Given the description of an element on the screen output the (x, y) to click on. 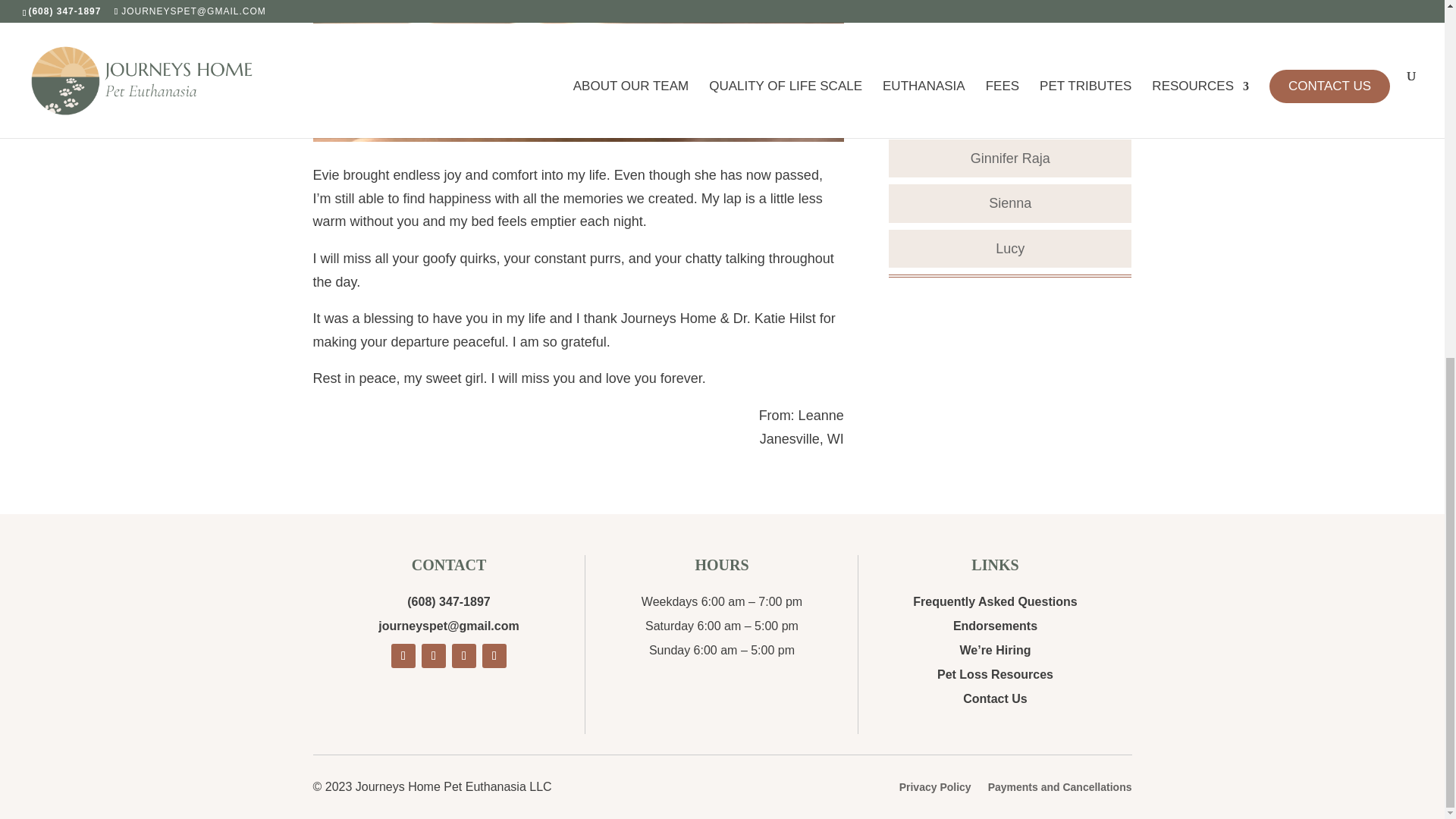
Follow on Yelp (463, 655)
Frequently Asked Questions (994, 601)
Lucy (1010, 248)
Follow on Facebook (402, 655)
Sydnee (1010, 67)
Follow on X (433, 655)
Evie (578, 70)
Emma (1009, 112)
Ginnifer Raja (1010, 158)
Sienna (1009, 202)
